Given the description of an element on the screen output the (x, y) to click on. 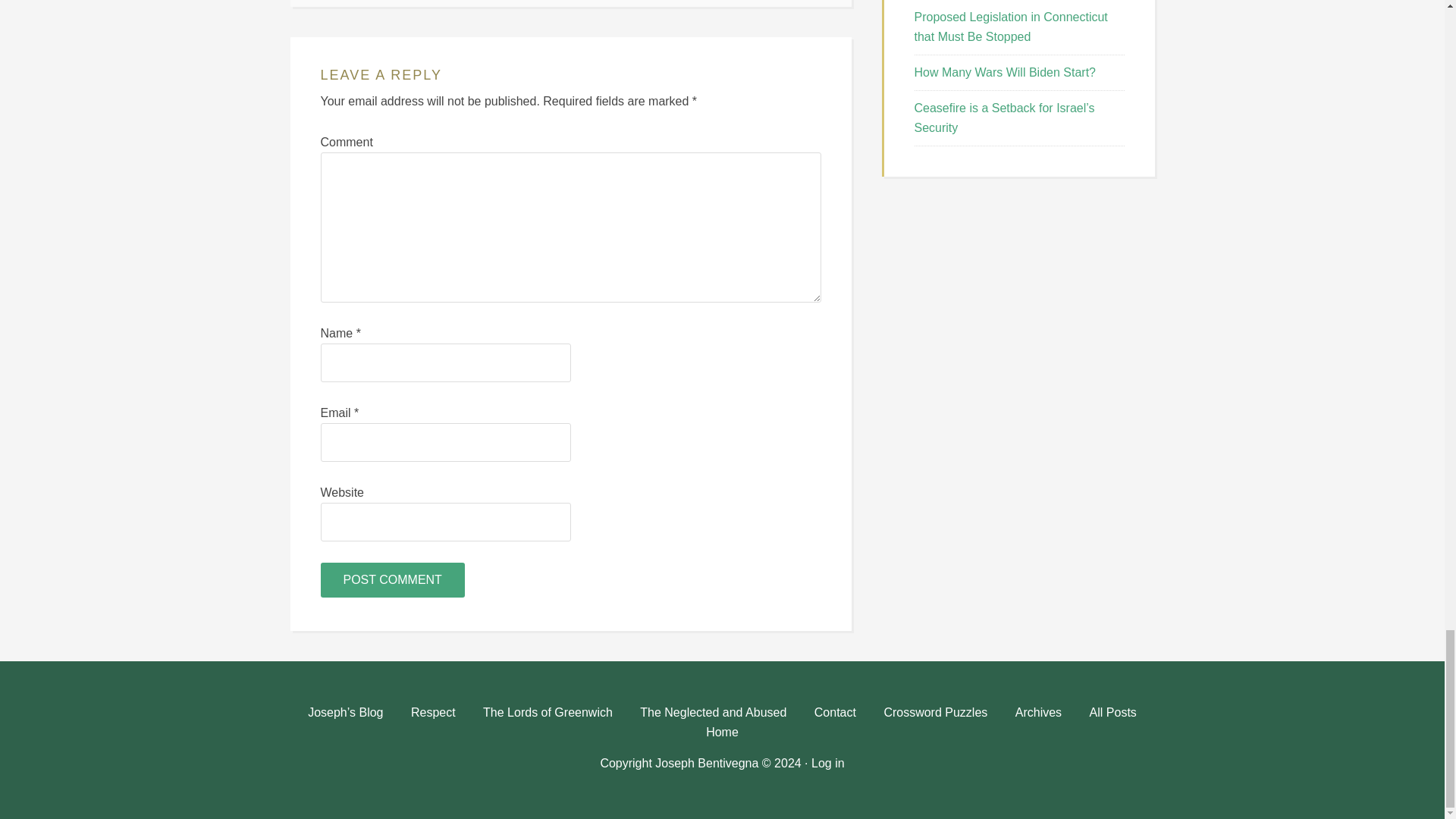
Respect (432, 716)
Home (722, 736)
Log in (827, 762)
The Lords of Greenwich (547, 716)
Archives (1038, 716)
Contact (834, 716)
The Neglected and Abused (712, 716)
Post Comment (392, 579)
How Many Wars Will Biden Start? (1005, 72)
Proposed Legislation in Connecticut that Must Be Stopped (1011, 26)
